Given the description of an element on the screen output the (x, y) to click on. 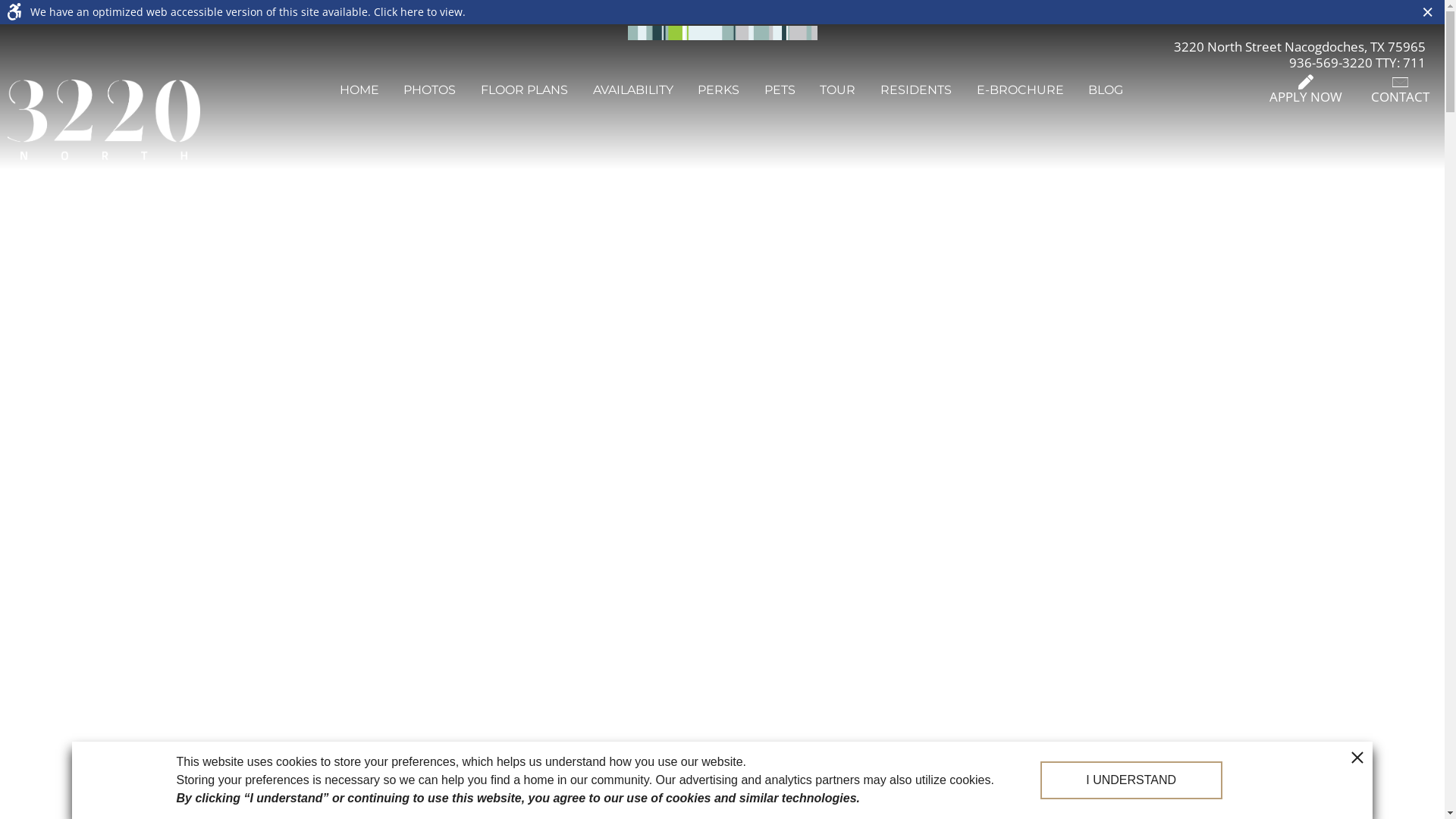
APPLY NOW Element type: text (721, 471)
936-569-3220 TTY: 711 Element type: text (1357, 63)
CONTACT Element type: text (1400, 89)
PETS Element type: text (779, 89)
PHOTOS Element type: text (429, 89)
E-BROCHURE Element type: text (1019, 89)
BLOG Element type: text (1105, 89)
PERKS Element type: text (718, 89)
FLOOR PLANS Element type: text (523, 89)
I UNDERSTAND Element type: text (1131, 780)
TOUR Element type: text (837, 89)
3220 North Street Nacogdoches, TX 75965 Element type: text (1299, 43)
AVAILABILITY Element type: text (633, 89)
RESIDENTS Element type: text (915, 89)
APPLY NOW Element type: text (1305, 89)
HOME Element type: text (359, 89)
